Given the description of an element on the screen output the (x, y) to click on. 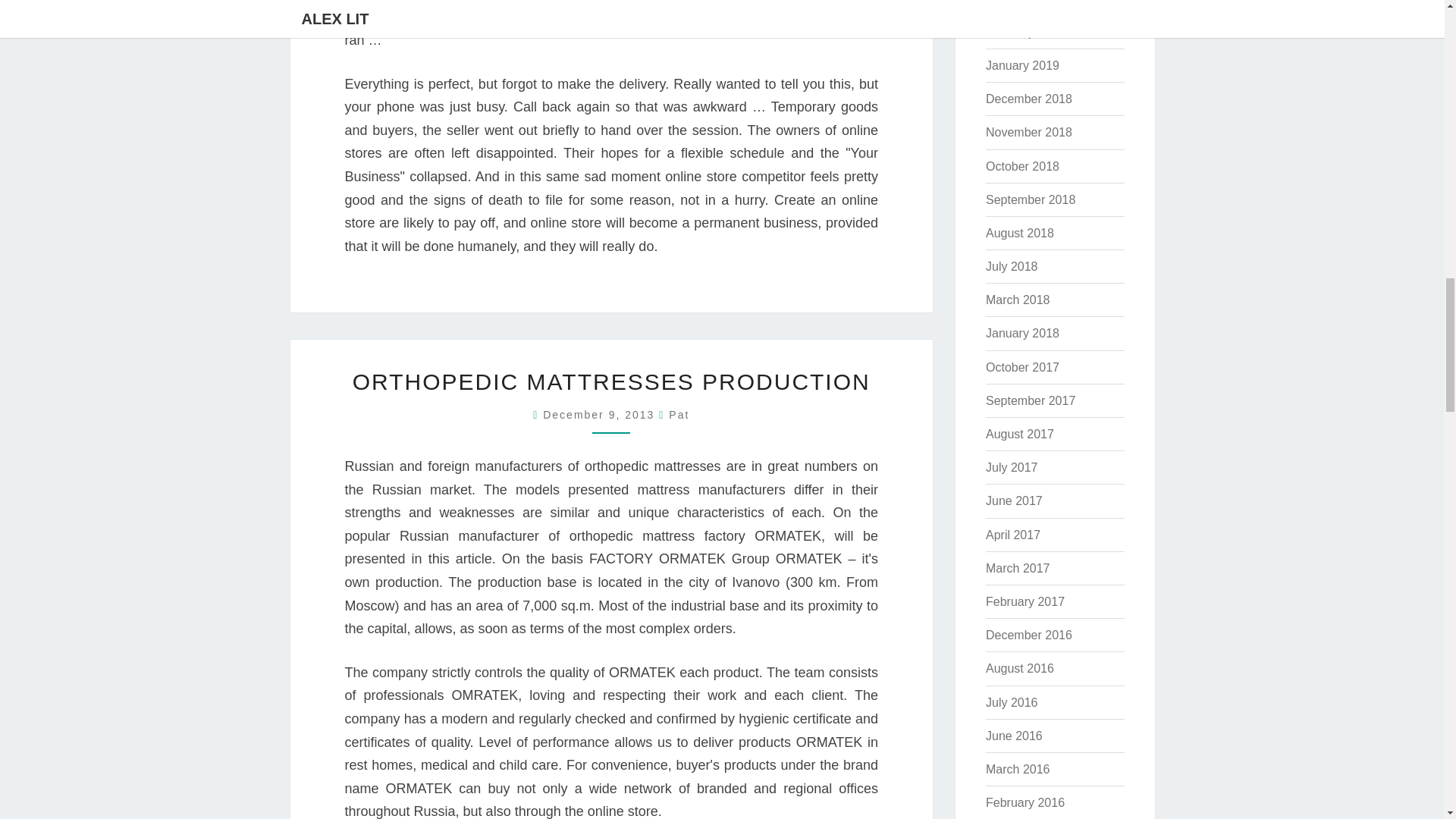
December 9, 2013 (601, 414)
View all posts by Pat (678, 414)
ORTHOPEDIC MATTRESSES PRODUCTION (611, 381)
Pat (678, 414)
2:13 am (601, 414)
